Given the description of an element on the screen output the (x, y) to click on. 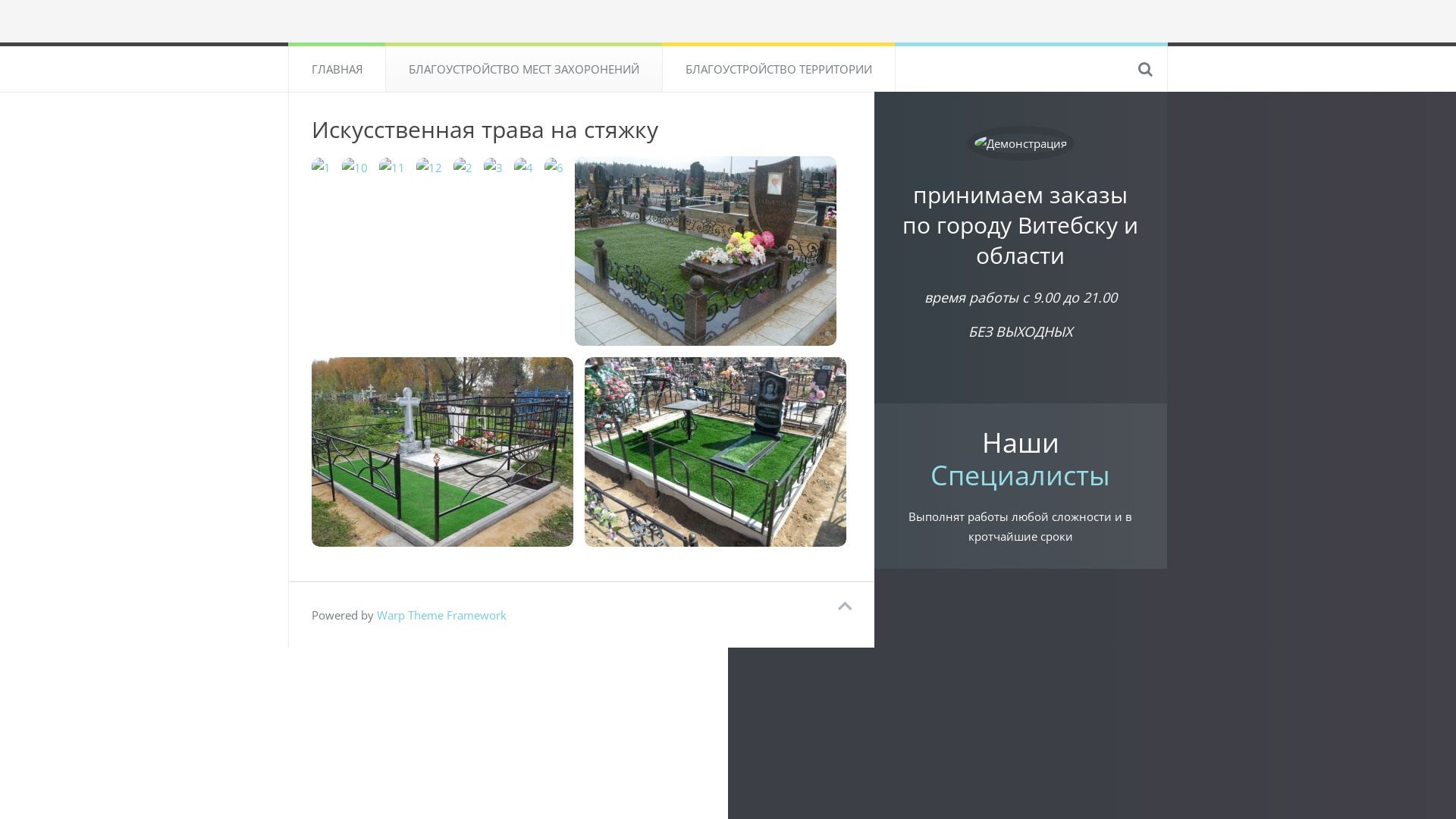
12 Element type: hover (429, 166)
11 Element type: hover (391, 166)
9 Element type: hover (715, 451)
Warp Theme Framework Element type: text (441, 614)
3 Element type: hover (492, 166)
10 Element type: hover (354, 166)
8 Element type: hover (442, 451)
6 Element type: hover (553, 166)
1 Element type: hover (320, 166)
7 Element type: hover (705, 250)
4 Element type: hover (523, 166)
2 Element type: hover (462, 166)
